Given the description of an element on the screen output the (x, y) to click on. 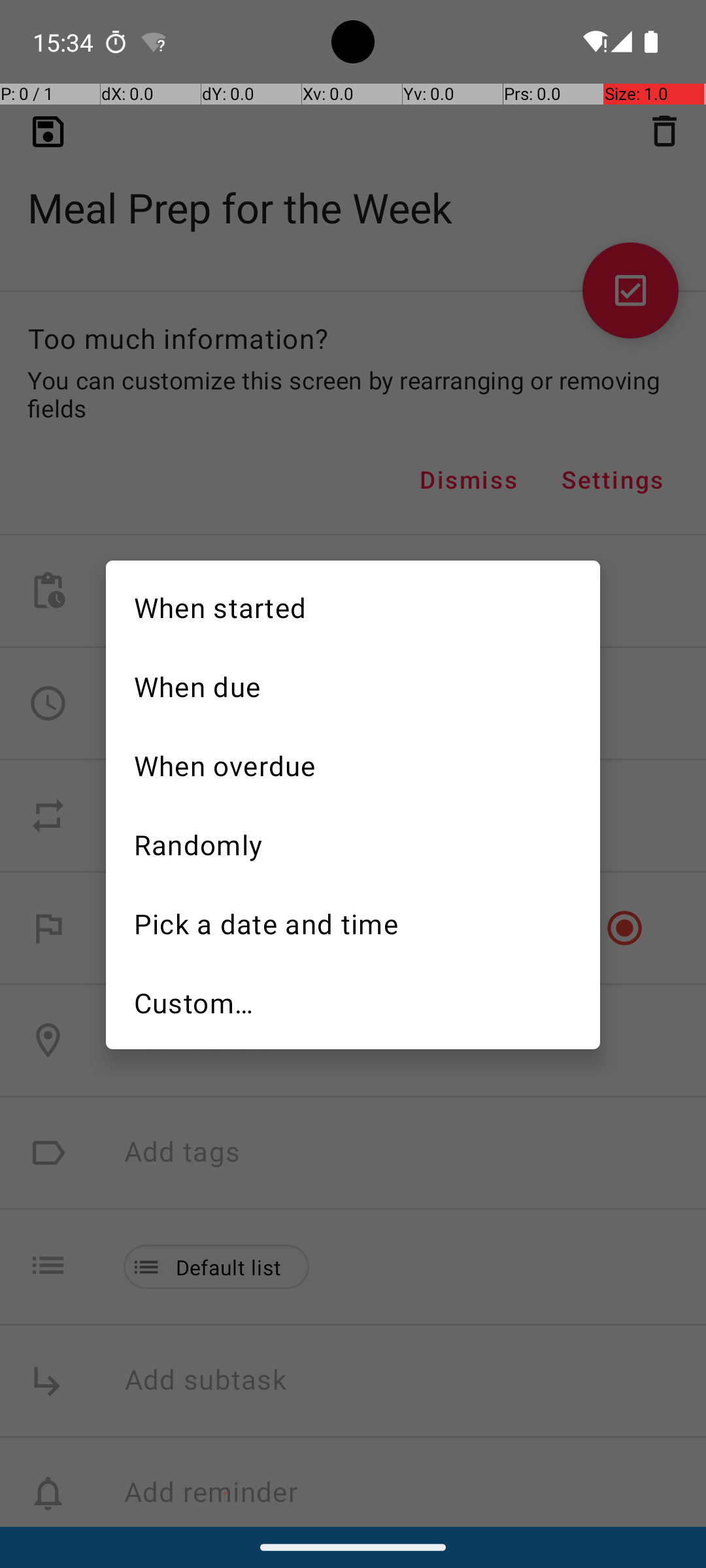
When started Element type: android.widget.TextView (352, 605)
When due Element type: android.widget.TextView (352, 684)
When overdue Element type: android.widget.TextView (352, 763)
Randomly Element type: android.widget.TextView (352, 842)
Pick a date and time Element type: android.widget.TextView (352, 921)
